Given the description of an element on the screen output the (x, y) to click on. 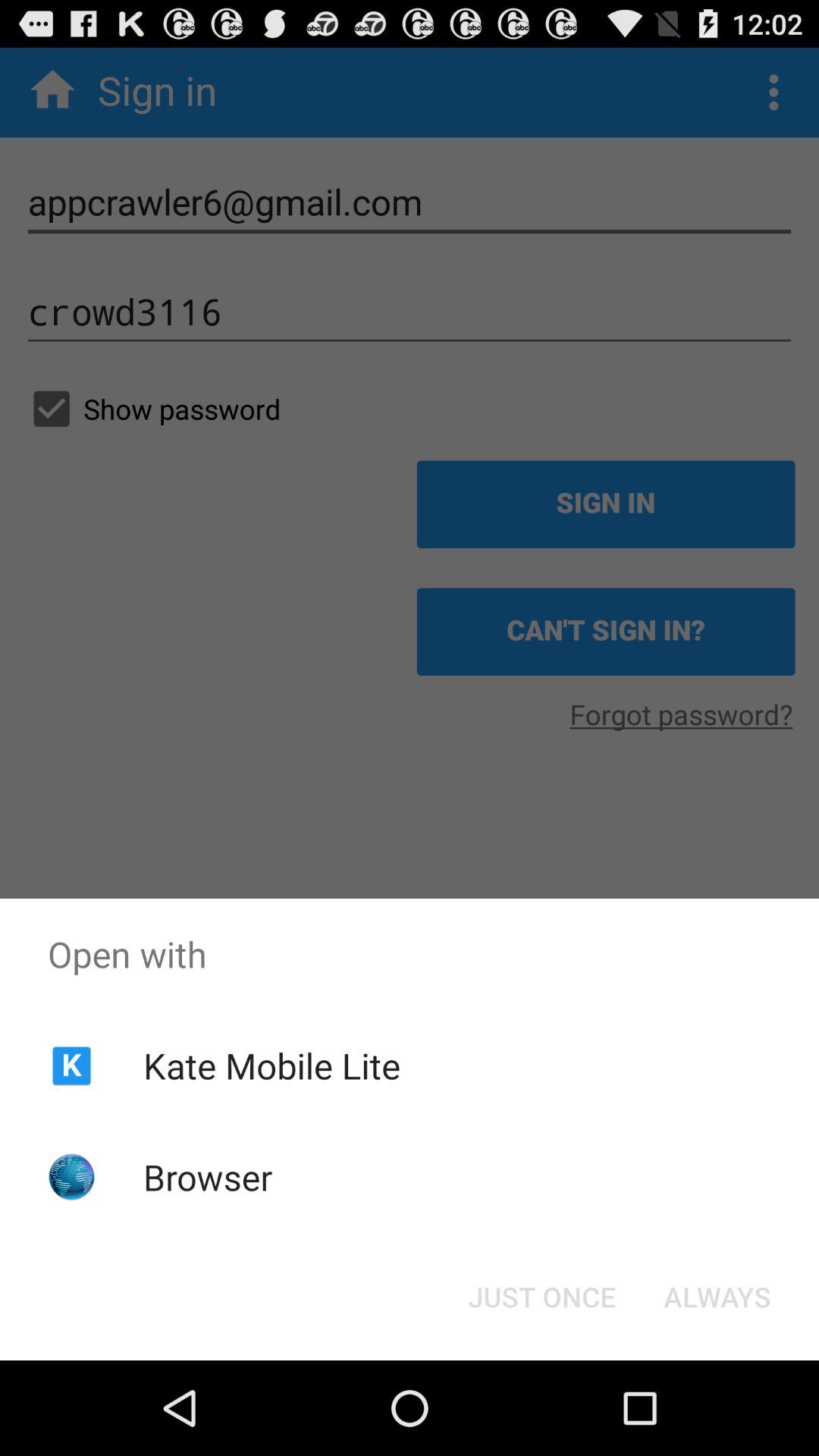
click the just once at the bottom (541, 1296)
